Given the description of an element on the screen output the (x, y) to click on. 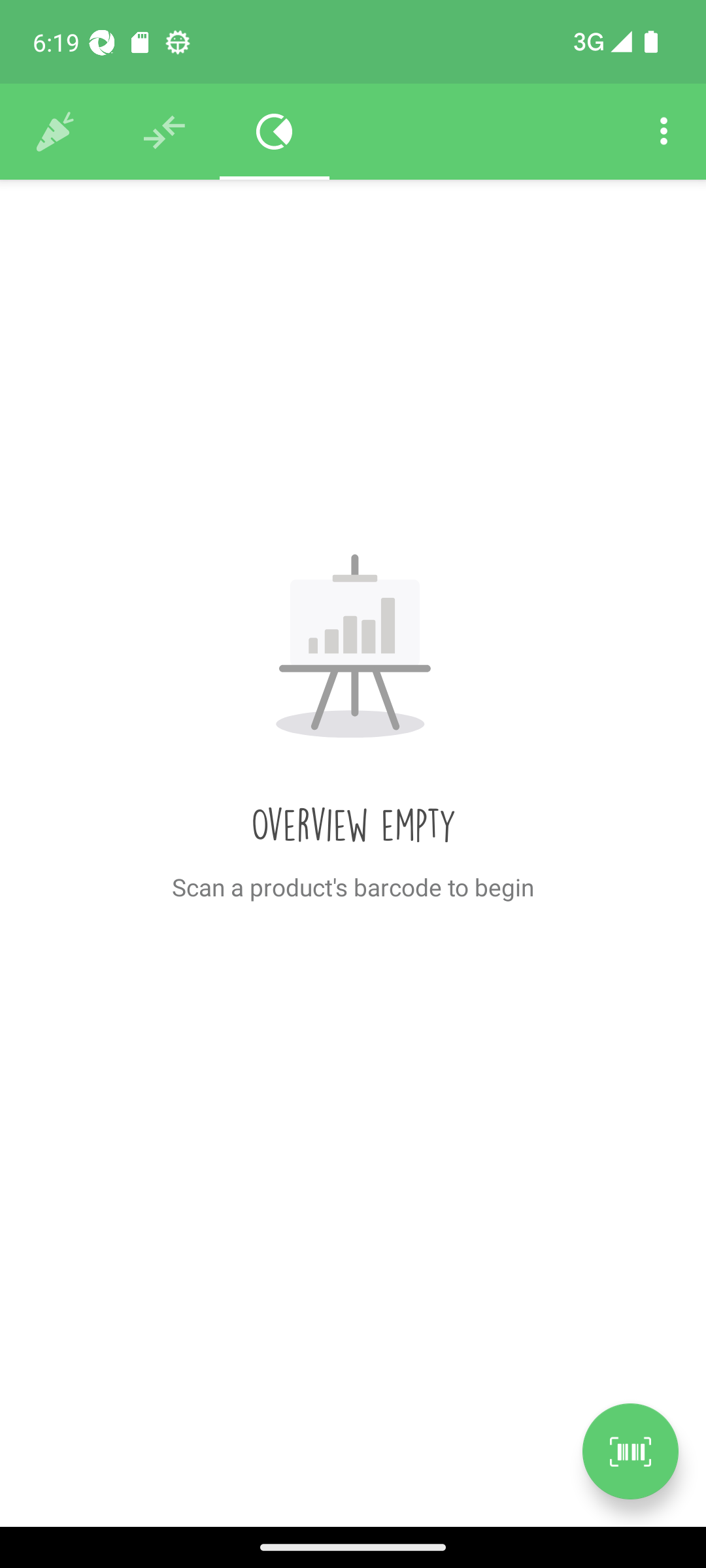
History (55, 131)
Recommendations (164, 131)
Settings (663, 131)
Scan a product (630, 1451)
